Given the description of an element on the screen output the (x, y) to click on. 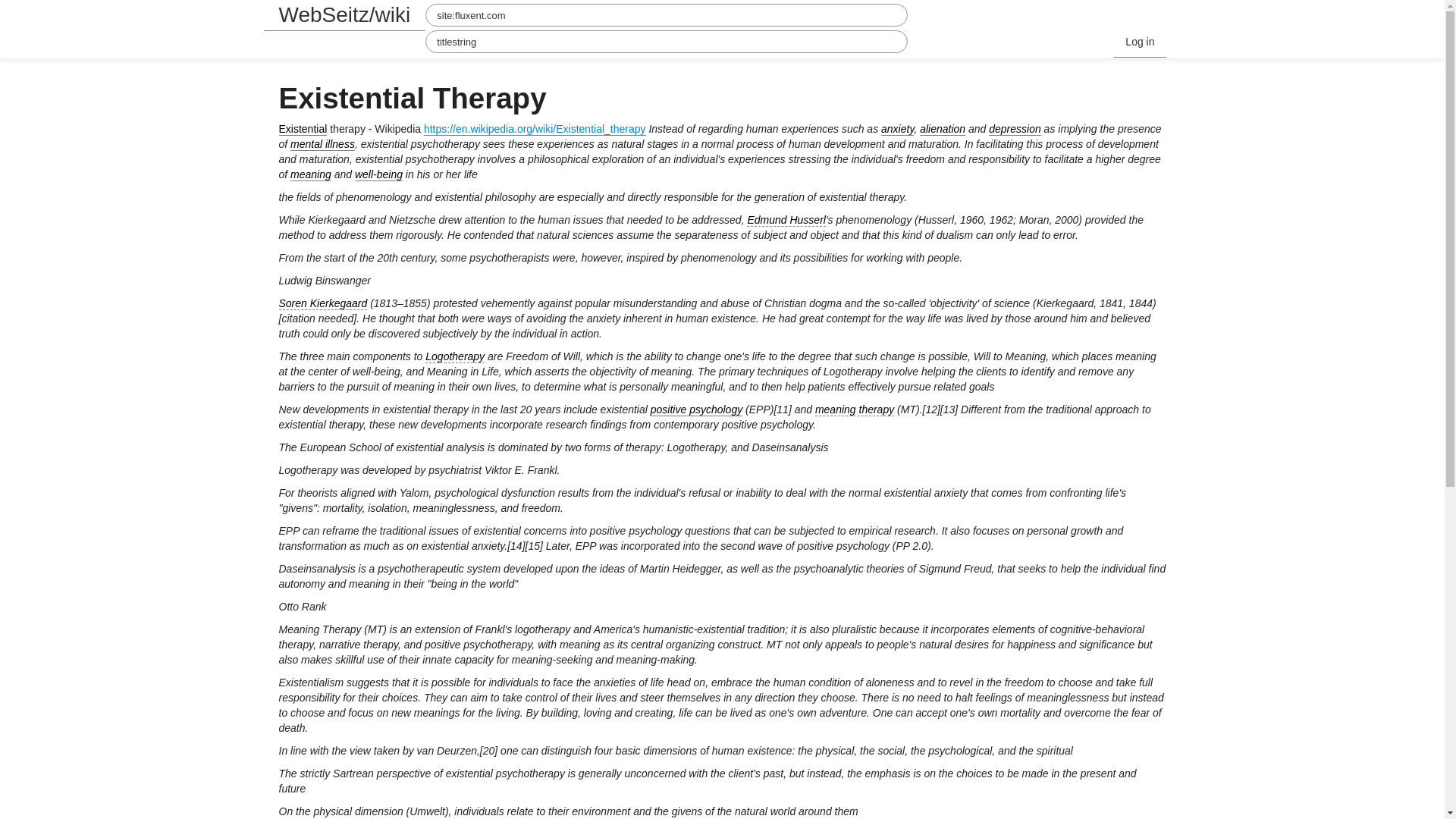
anxiety (897, 128)
mental illness (322, 144)
site:fluxent.com  (666, 15)
site:fluxent.com  (666, 15)
Logotherapy (454, 356)
Log in (1139, 41)
meaning therapy (854, 409)
alienation (942, 128)
Existential (303, 128)
Soren Kierkegaard (323, 303)
